Given the description of an element on the screen output the (x, y) to click on. 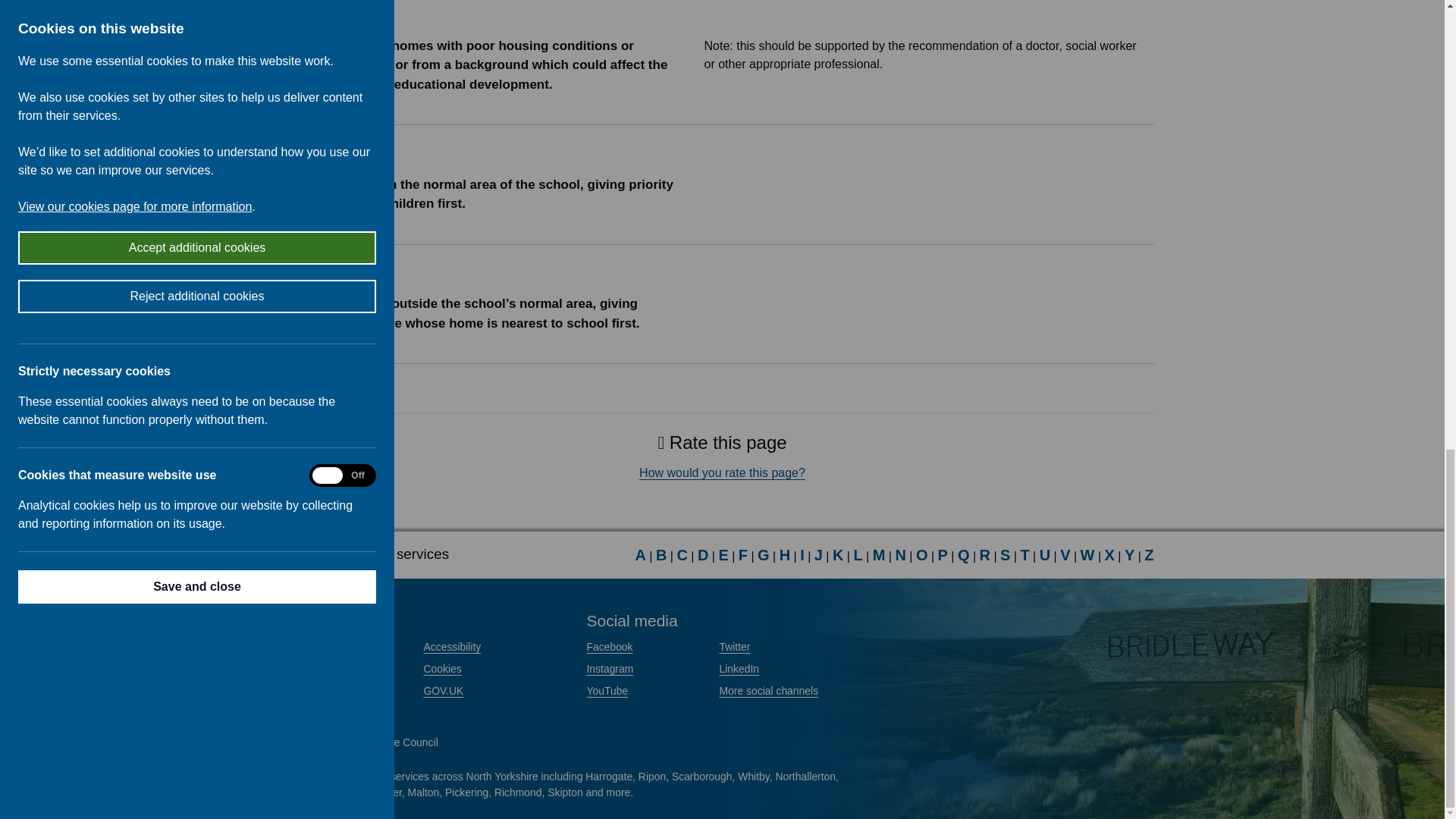
How would you rate this page? (722, 472)
Accessibility (451, 646)
Get in touch (319, 646)
